Given the description of an element on the screen output the (x, y) to click on. 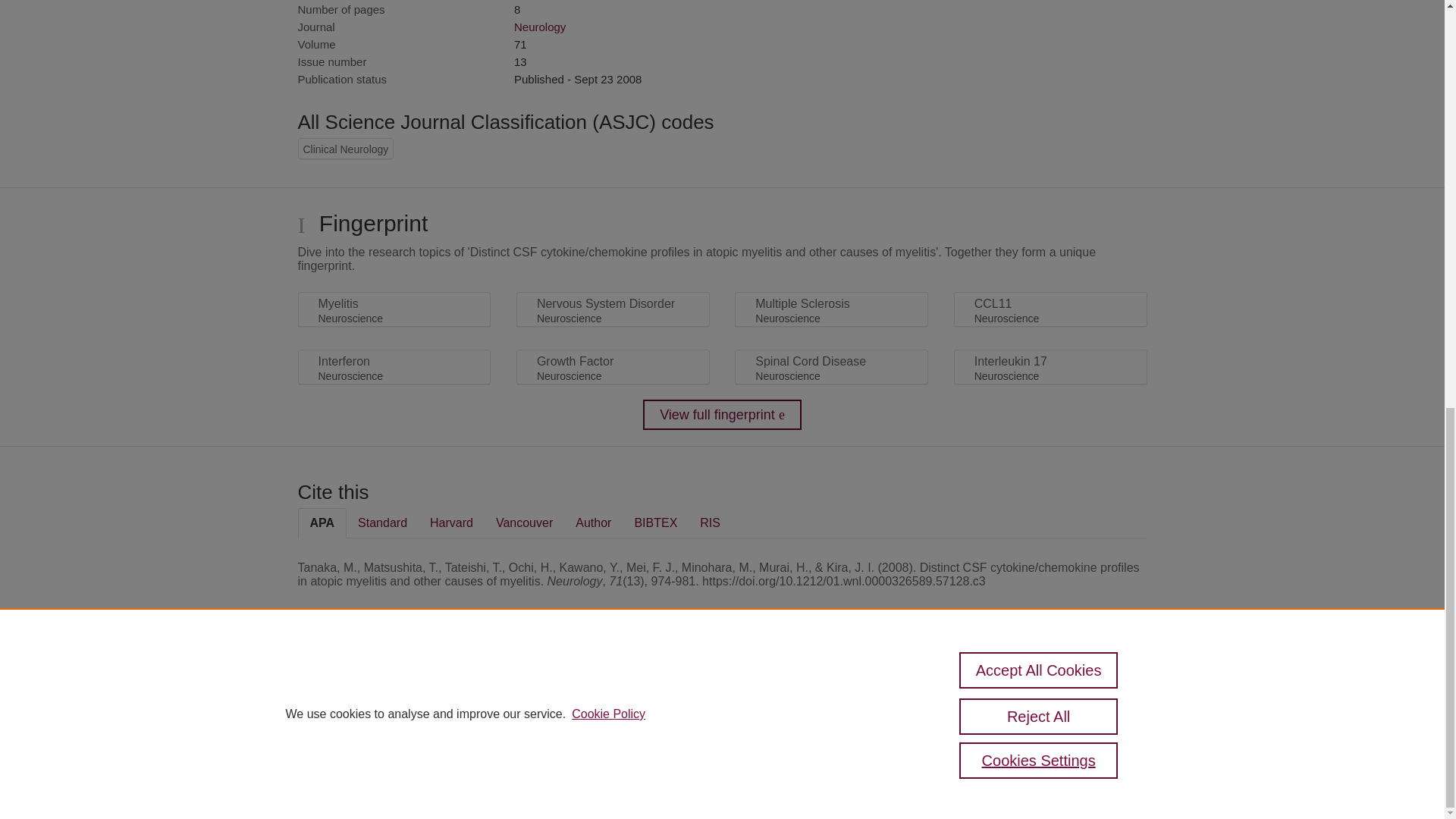
Elsevier B.V. (506, 707)
Pure (362, 686)
Scopus (394, 686)
Neurology (539, 26)
View full fingerprint (722, 414)
